Given the description of an element on the screen output the (x, y) to click on. 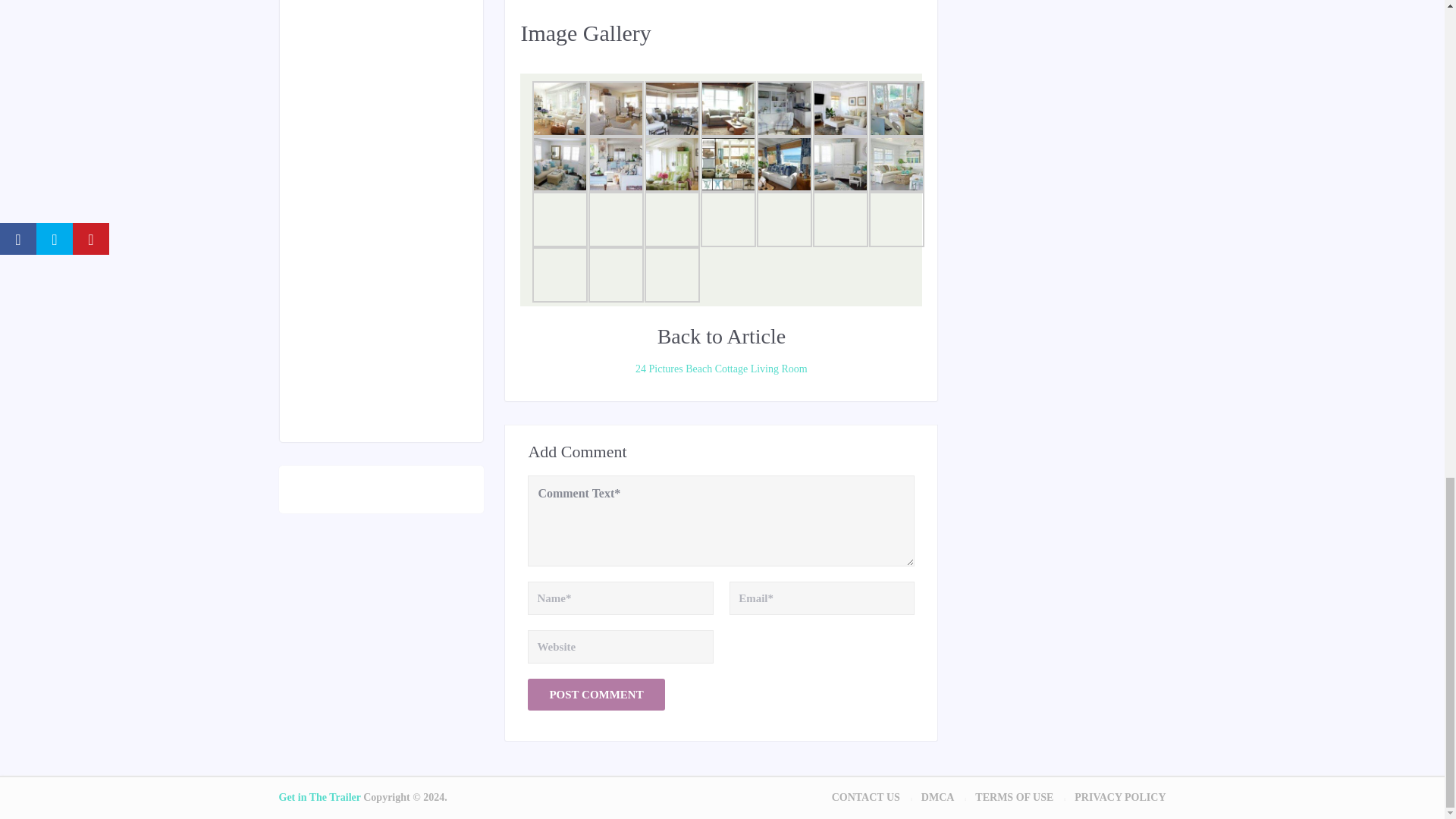
24 Pictures Beach Cottage Living Room (720, 369)
Post Comment (595, 694)
